Given the description of an element on the screen output the (x, y) to click on. 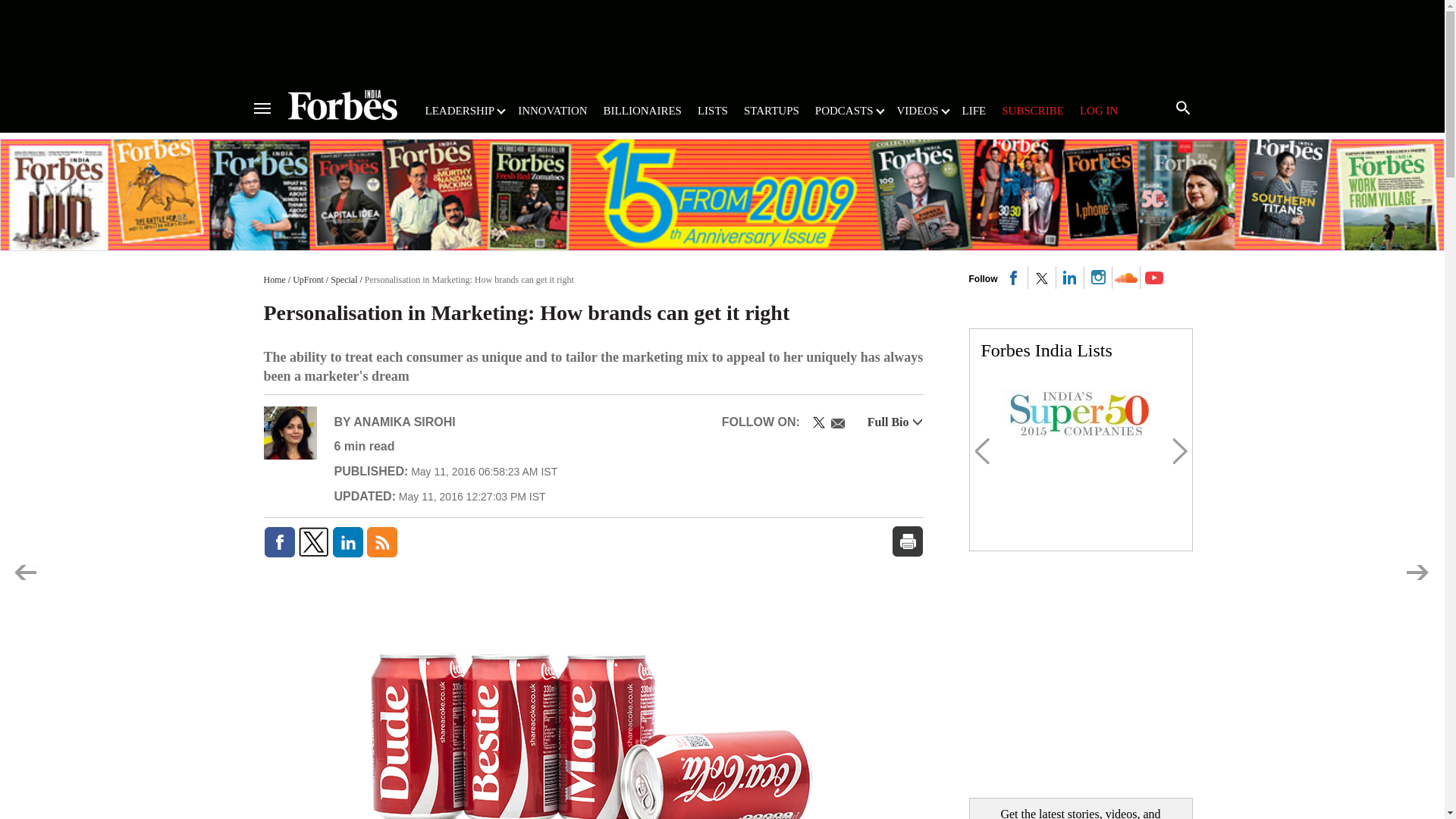
Personalisation in Marketing: How brands can get it right (593, 701)
Anamika Sirohi  (290, 432)
3rd party ad content (721, 39)
